Given the description of an element on the screen output the (x, y) to click on. 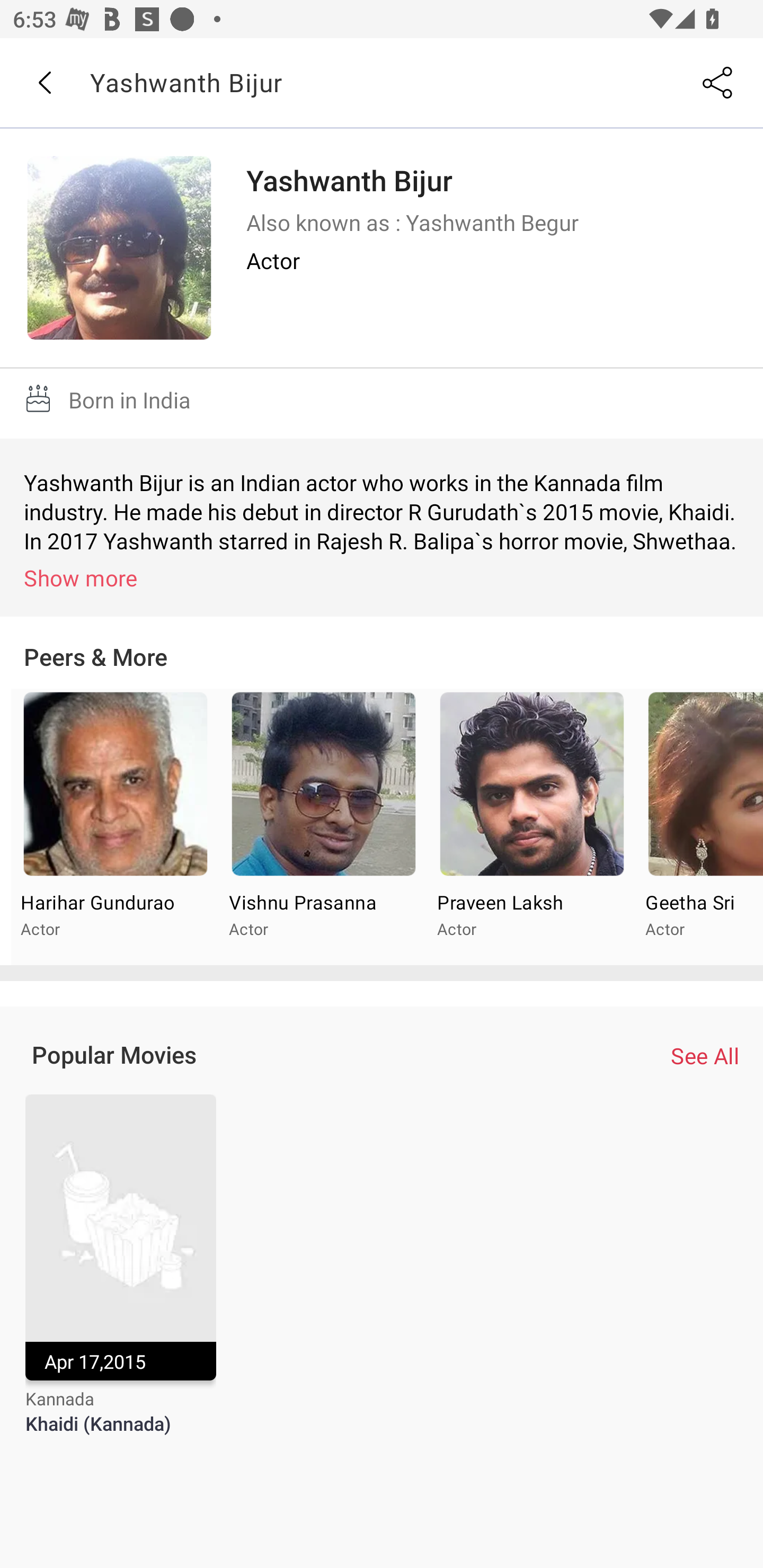
Back (44, 82)
Show more (384, 577)
Harihar Gundurao Dattatreya Actor (115, 826)
Vishnu Prasanna Actor (323, 826)
Praveen Laksh Actor (531, 826)
Geetha Sri Actor (699, 826)
See All (704, 1055)
Apr 17,2015 Kannada Khaidi (Kannada) (120, 1276)
